Given the description of an element on the screen output the (x, y) to click on. 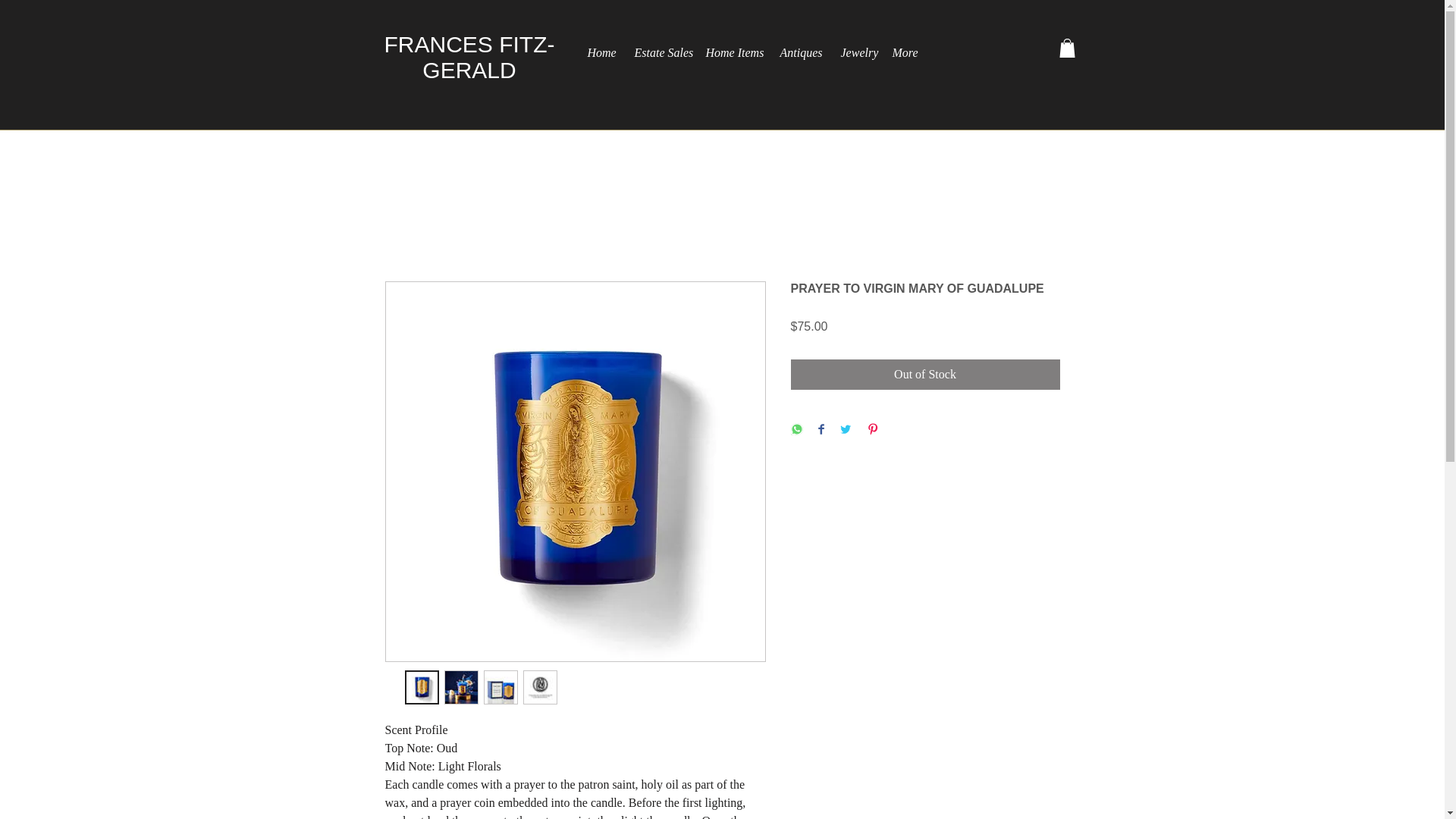
Estate Sales (659, 46)
Out of Stock (924, 374)
Home Items (732, 46)
Antiques (800, 46)
Jewelry (856, 46)
Home (601, 46)
